Given the description of an element on the screen output the (x, y) to click on. 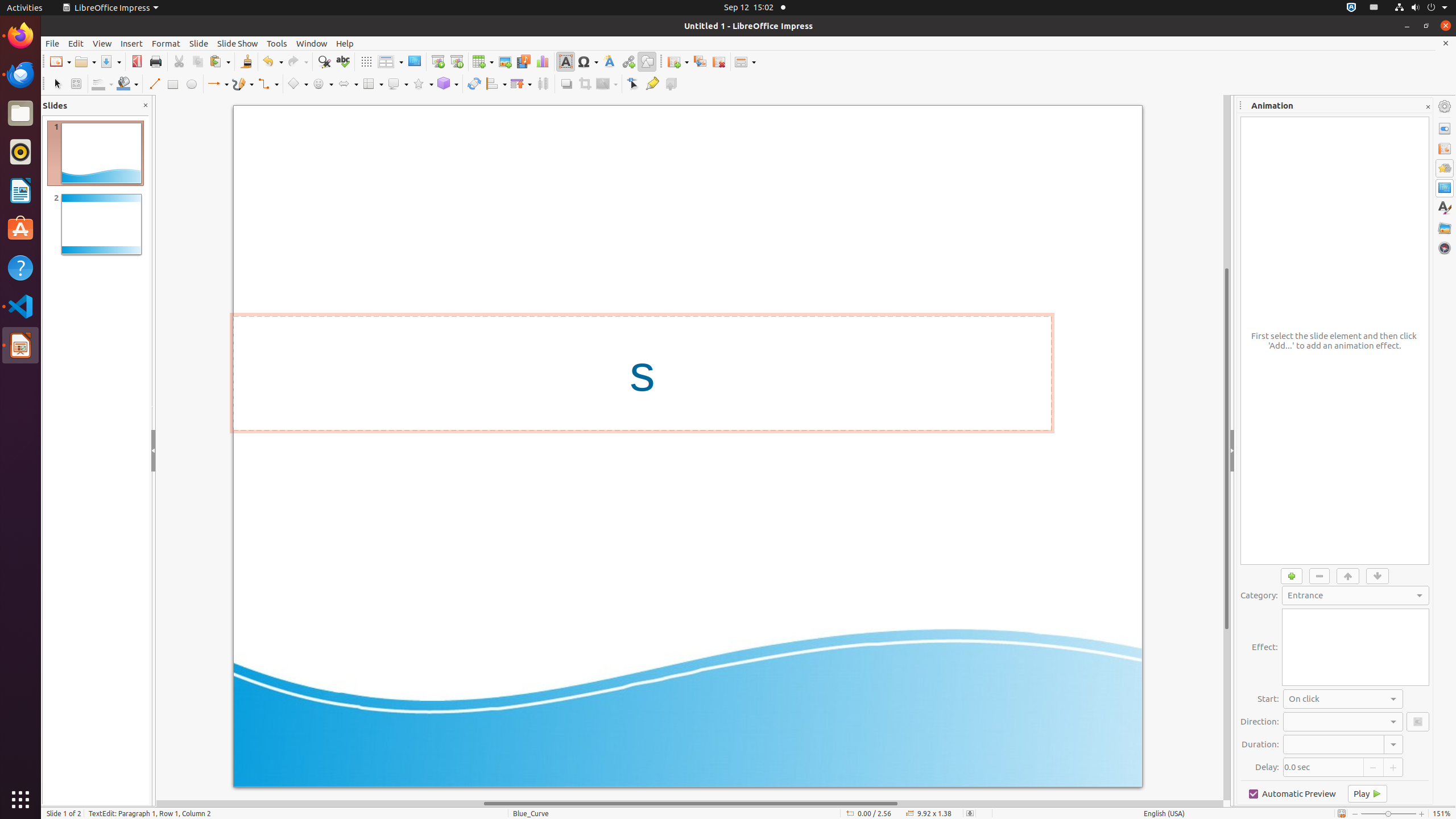
Close Pane Element type: push-button (145, 105)
Master Slides Element type: radio-button (1444, 188)
Play Element type: push-button (1367, 793)
:1.21/StatusNotifierItem Element type: menu (1373, 7)
Hyperlink Element type: toggle-button (627, 61)
